Given the description of an element on the screen output the (x, y) to click on. 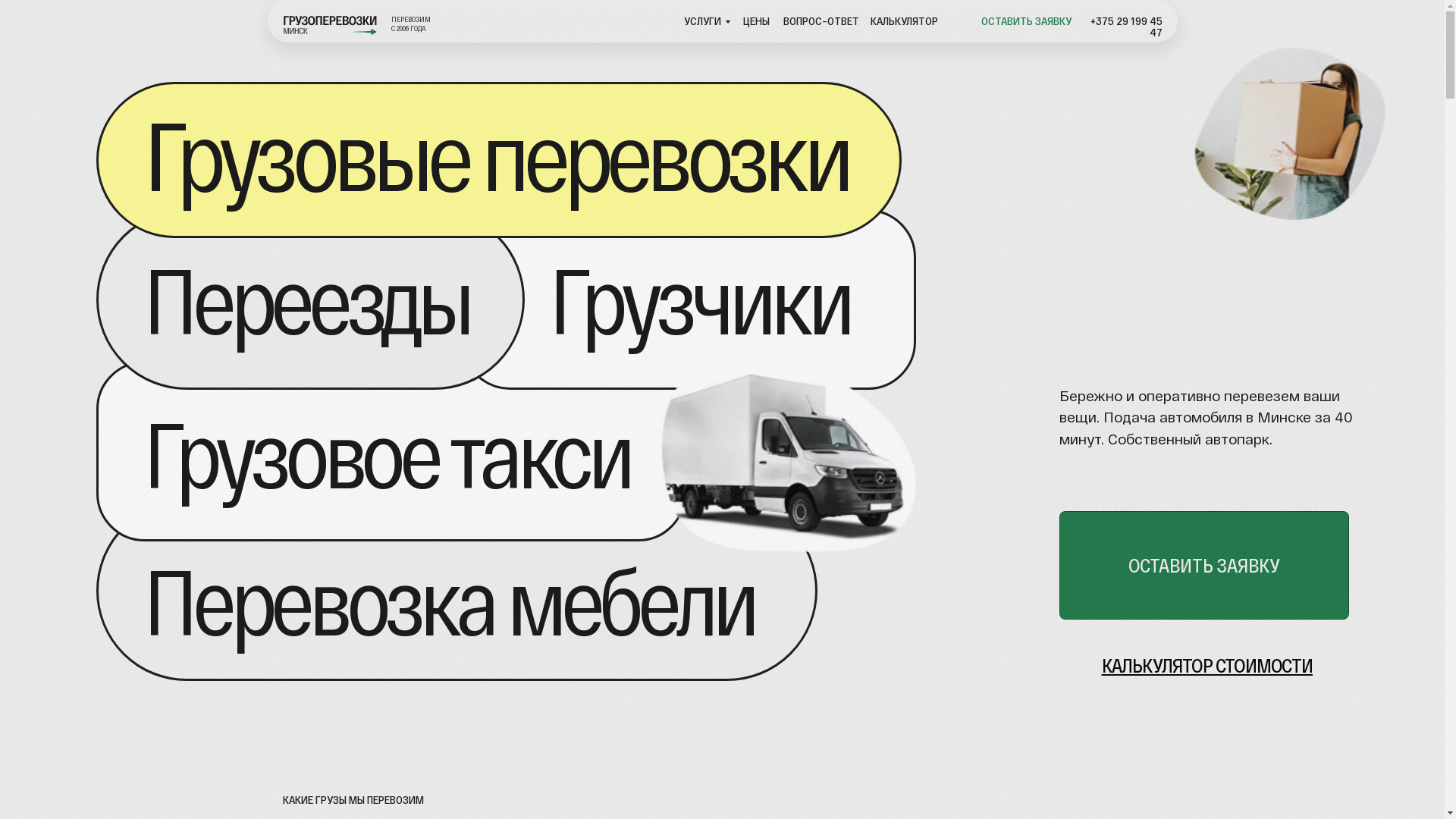
+375 29 199 45 47 Element type: text (1126, 25)
